Given the description of an element on the screen output the (x, y) to click on. 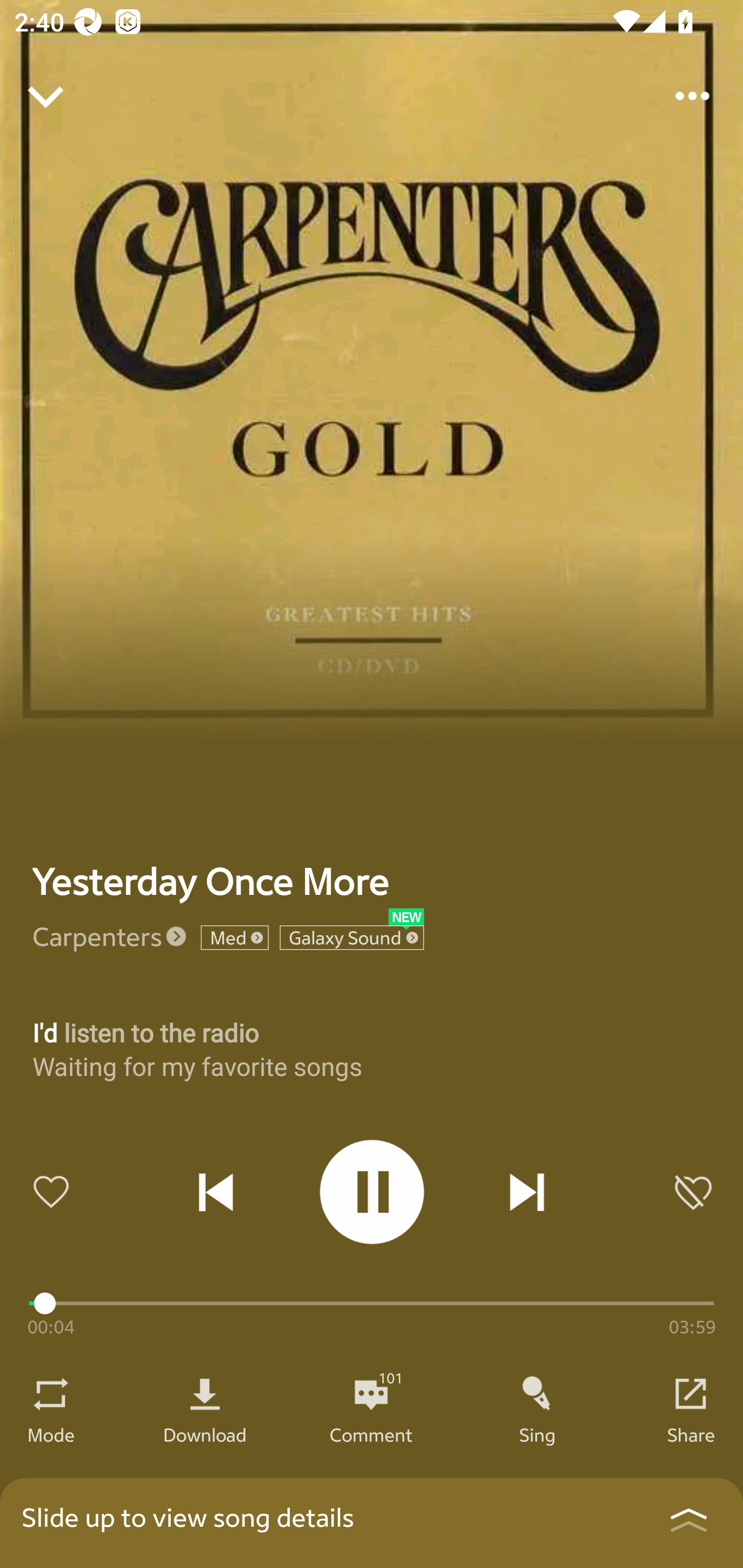
Yesterday Once More (210, 881)
Carpenters (97, 935)
Med (234, 937)
Galaxy Sound (351, 937)
101 (371, 1393)
Mode (51, 1434)
Download (204, 1434)
Comment (370, 1434)
Sing (537, 1434)
Share (691, 1434)
Slide up to view song details (371, 1523)
